Given the description of an element on the screen output the (x, y) to click on. 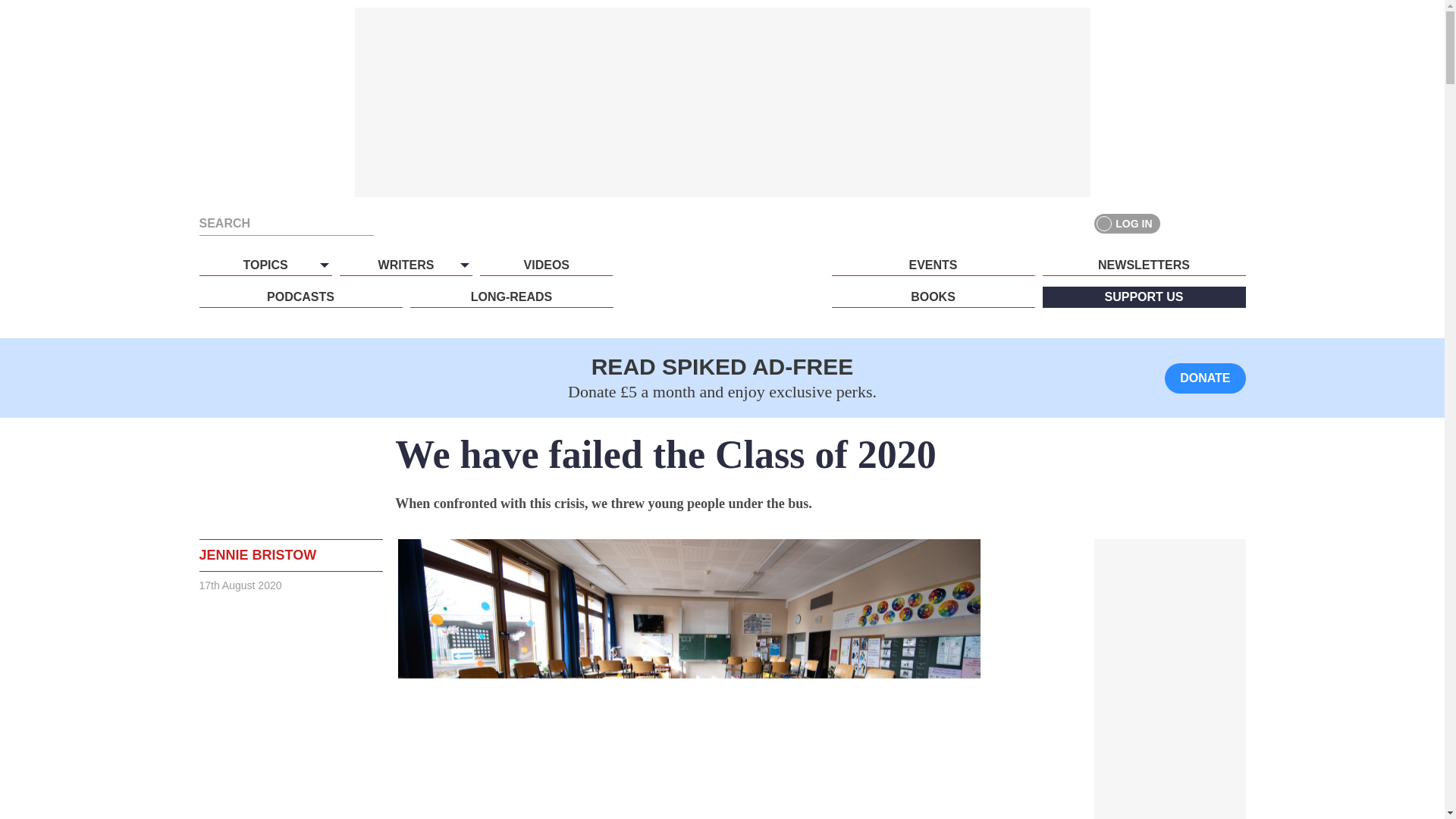
SUPPORT US (1143, 296)
VIDEOS (546, 265)
TOPICS (264, 265)
NEWSLETTERS (1143, 265)
LONG-READS (510, 296)
Facebook (1180, 223)
Twitter (1207, 223)
PODCASTS (299, 296)
LOG IN (1126, 223)
YouTube (1234, 223)
BOOKS (932, 296)
spiked - humanity is underrated (722, 293)
WRITERS (405, 265)
EVENTS (932, 265)
